Given the description of an element on the screen output the (x, y) to click on. 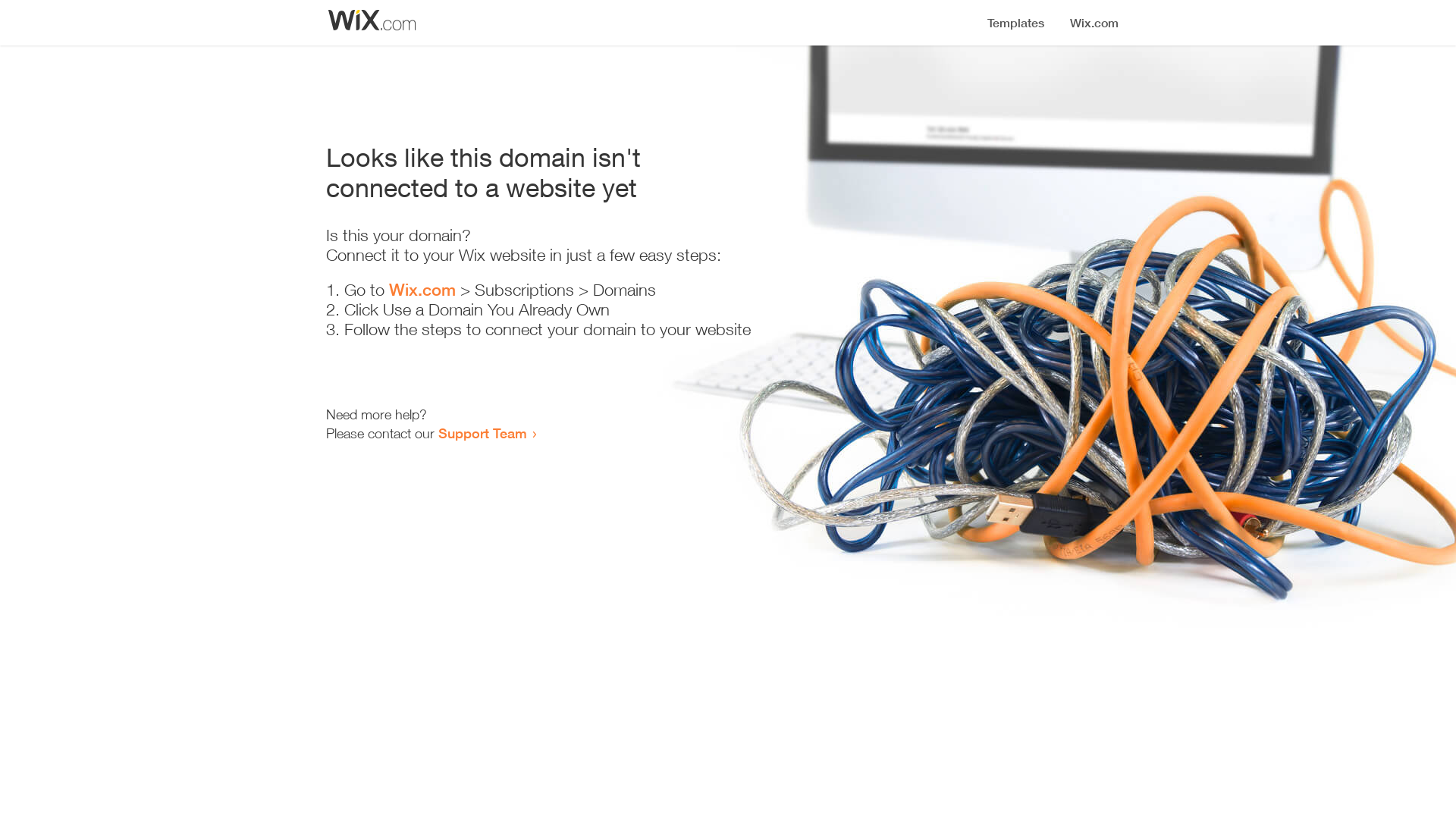
Wix.com Element type: text (422, 289)
Support Team Element type: text (482, 432)
